Given the description of an element on the screen output the (x, y) to click on. 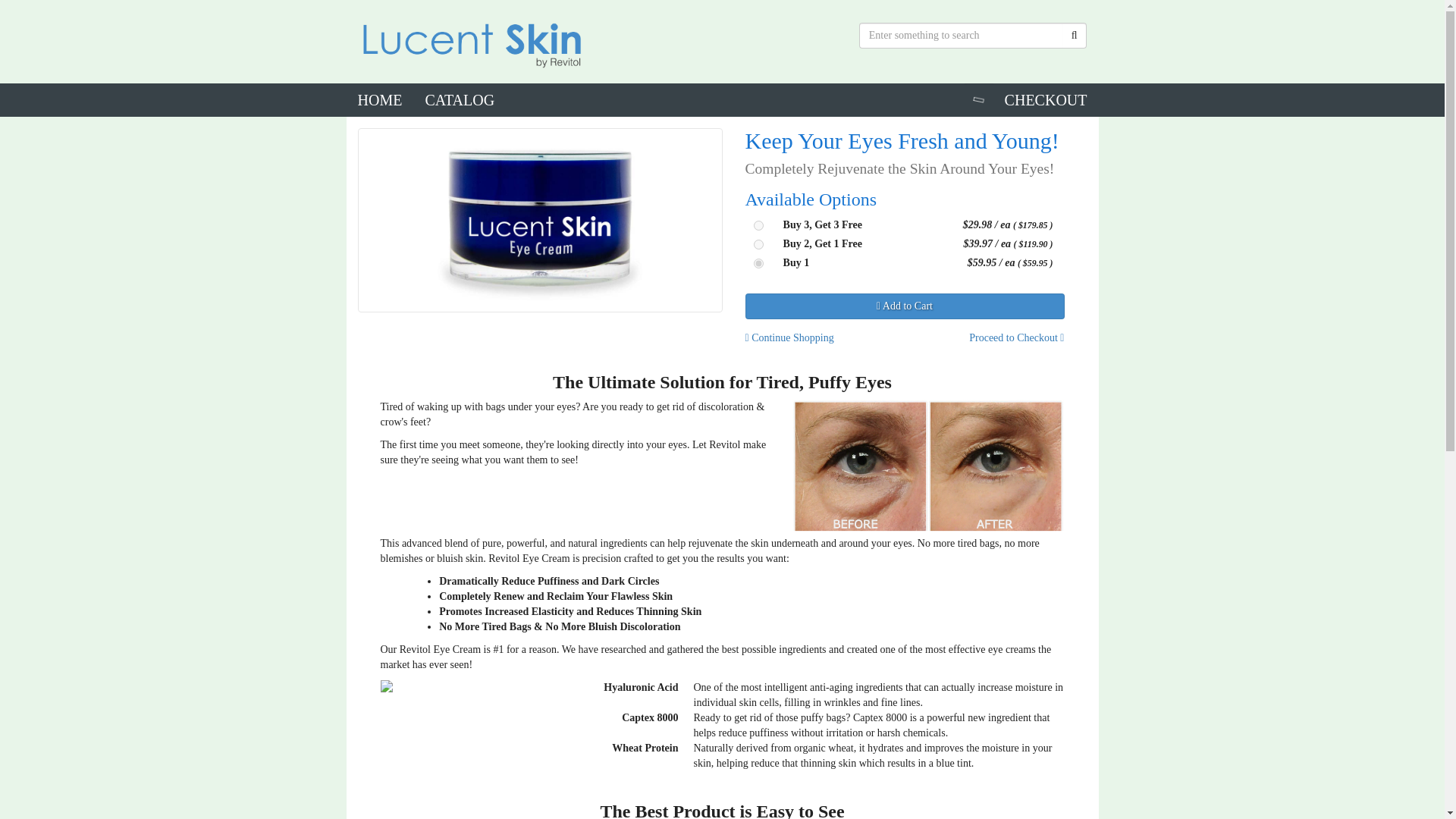
1356 (757, 263)
Add to Cart (904, 306)
CHECKOUT (1045, 100)
1371 (757, 225)
Continue Shopping (837, 337)
Proceed to Checkout (997, 337)
CATALOG (459, 100)
423 (757, 244)
HOME (379, 100)
